Given the description of an element on the screen output the (x, y) to click on. 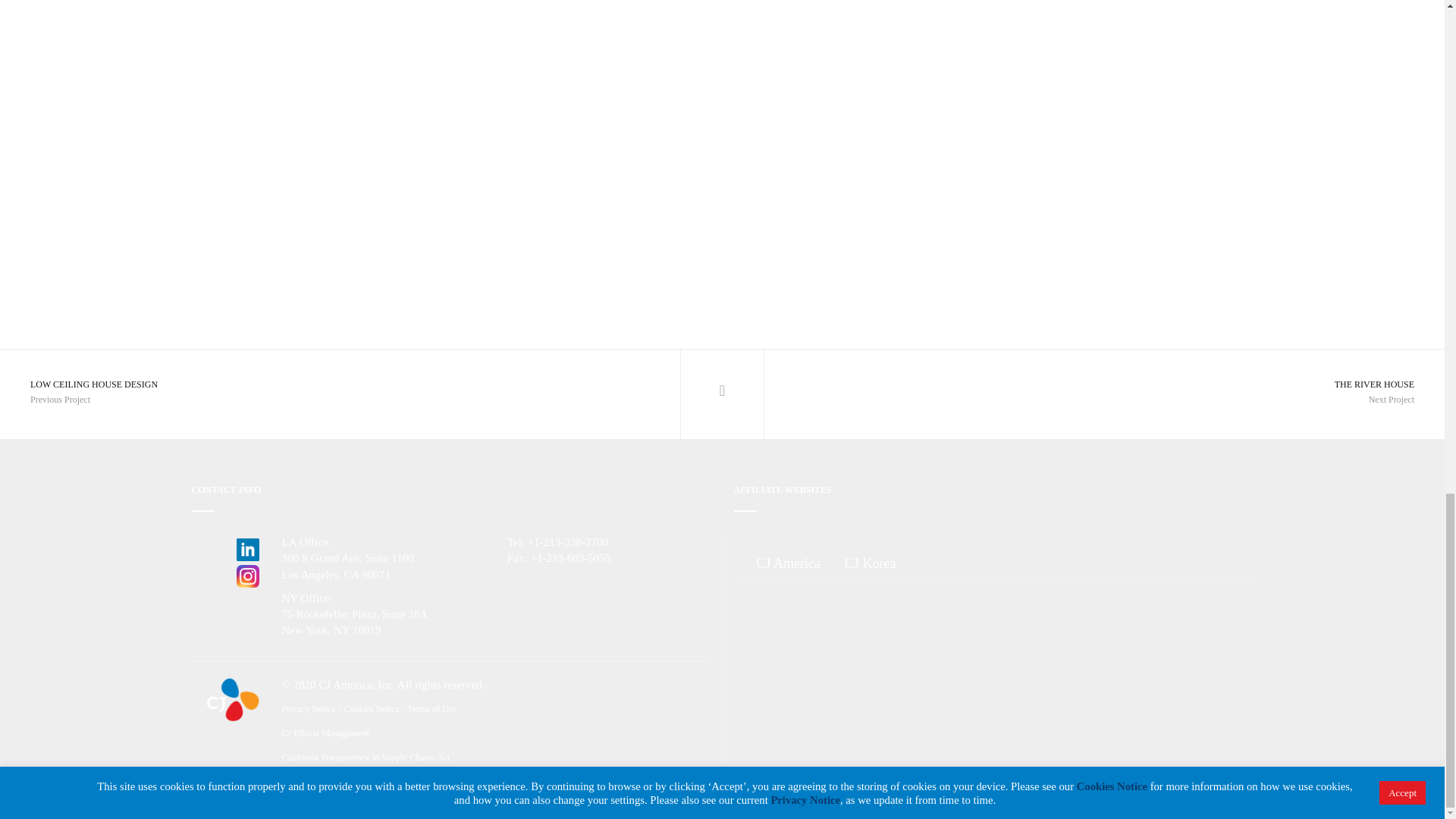
CJ Korea (354, 393)
Terms of Use (869, 564)
CJ America (431, 708)
Privacy Notice (787, 564)
CJ Ethical Management (309, 708)
Cookies Notice (325, 733)
California Transparency in Supply Chains Act (1088, 393)
